Given the description of an element on the screen output the (x, y) to click on. 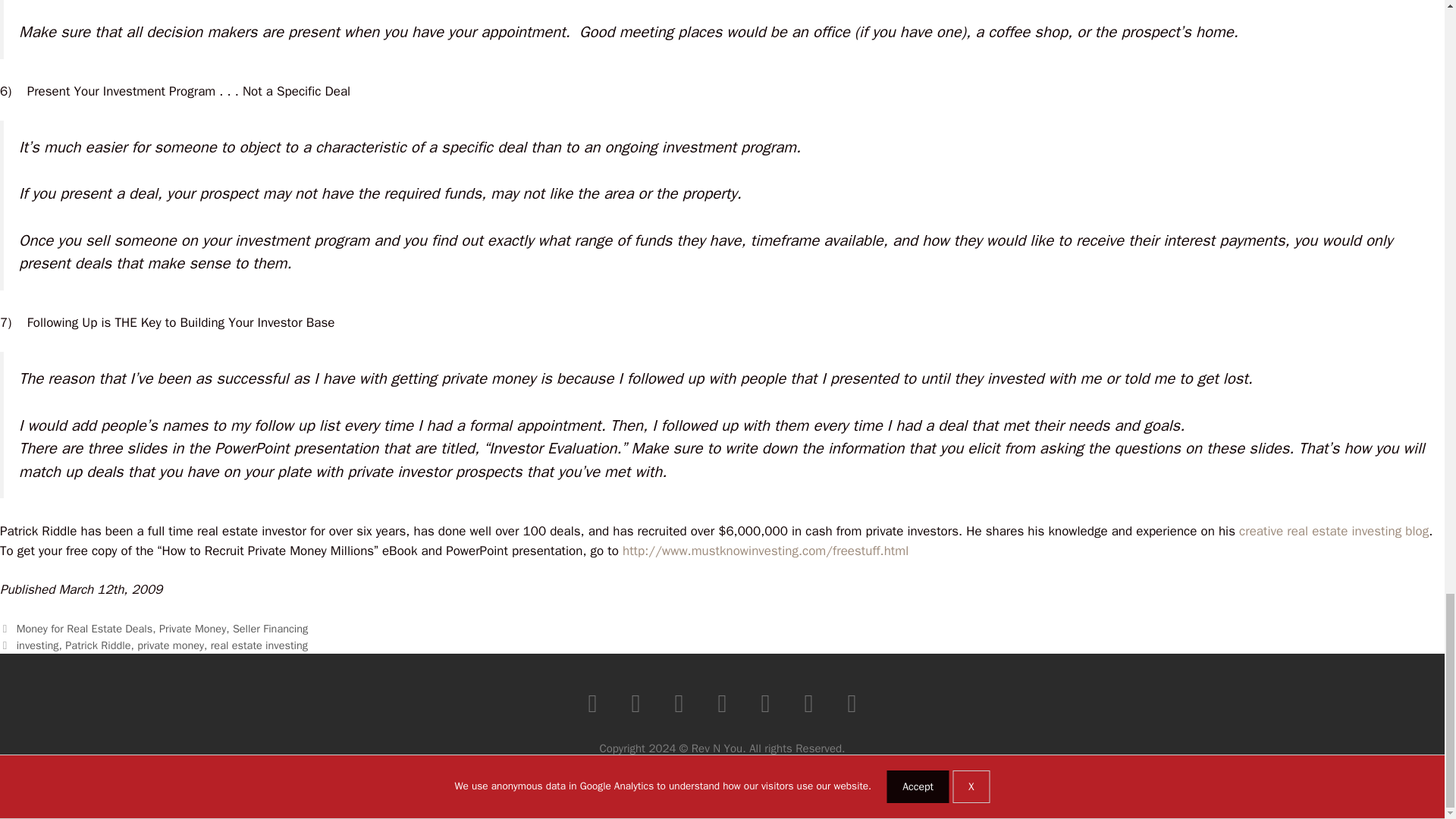
Patrick Riddle (98, 644)
Seller Financing (269, 628)
Money for Real Estate Deals (84, 628)
investing (37, 644)
Private Money (191, 628)
creative real estate investing blog (1333, 530)
private money (169, 644)
